Given the description of an element on the screen output the (x, y) to click on. 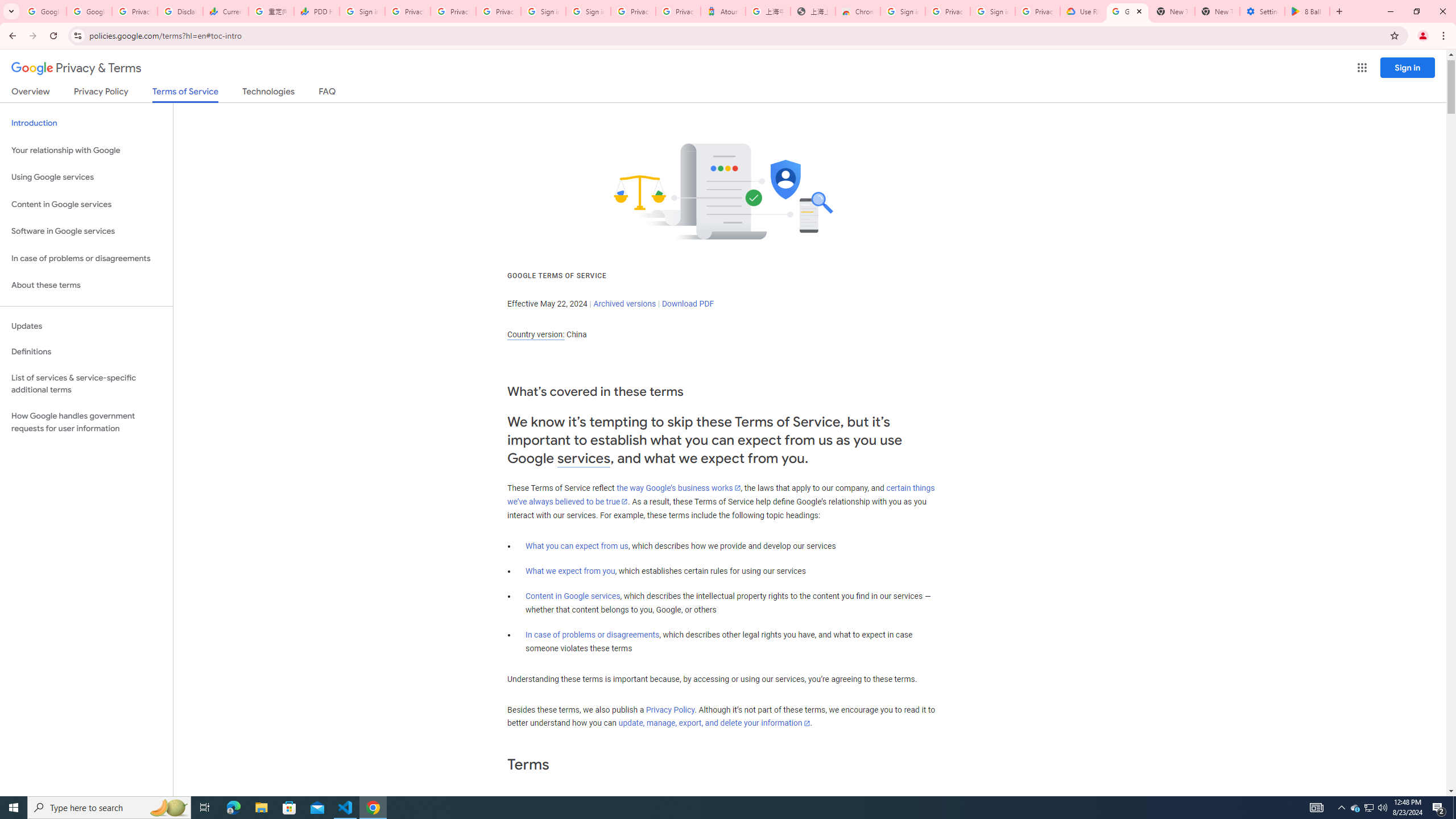
What we expect from you (570, 570)
Currencies - Google Finance (225, 11)
Privacy Checkup (452, 11)
